Given the description of an element on the screen output the (x, y) to click on. 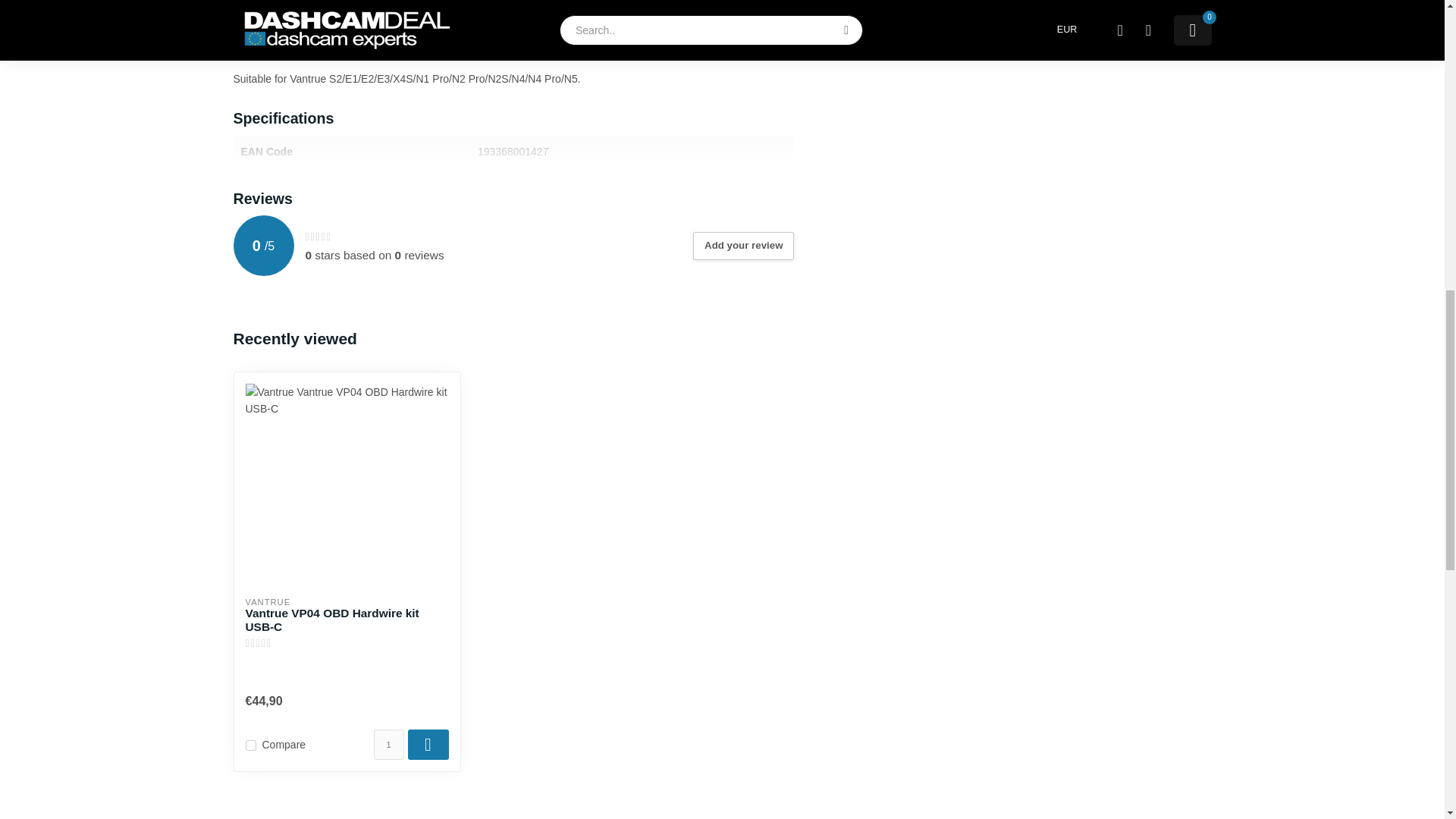
1 (387, 744)
Vantrue Vantrue VP04 OBD Hardwire kit USB-C (347, 485)
Vantrue Vantrue VP04 OBD Hardwire kit USB-C (347, 620)
